Given the description of an element on the screen output the (x, y) to click on. 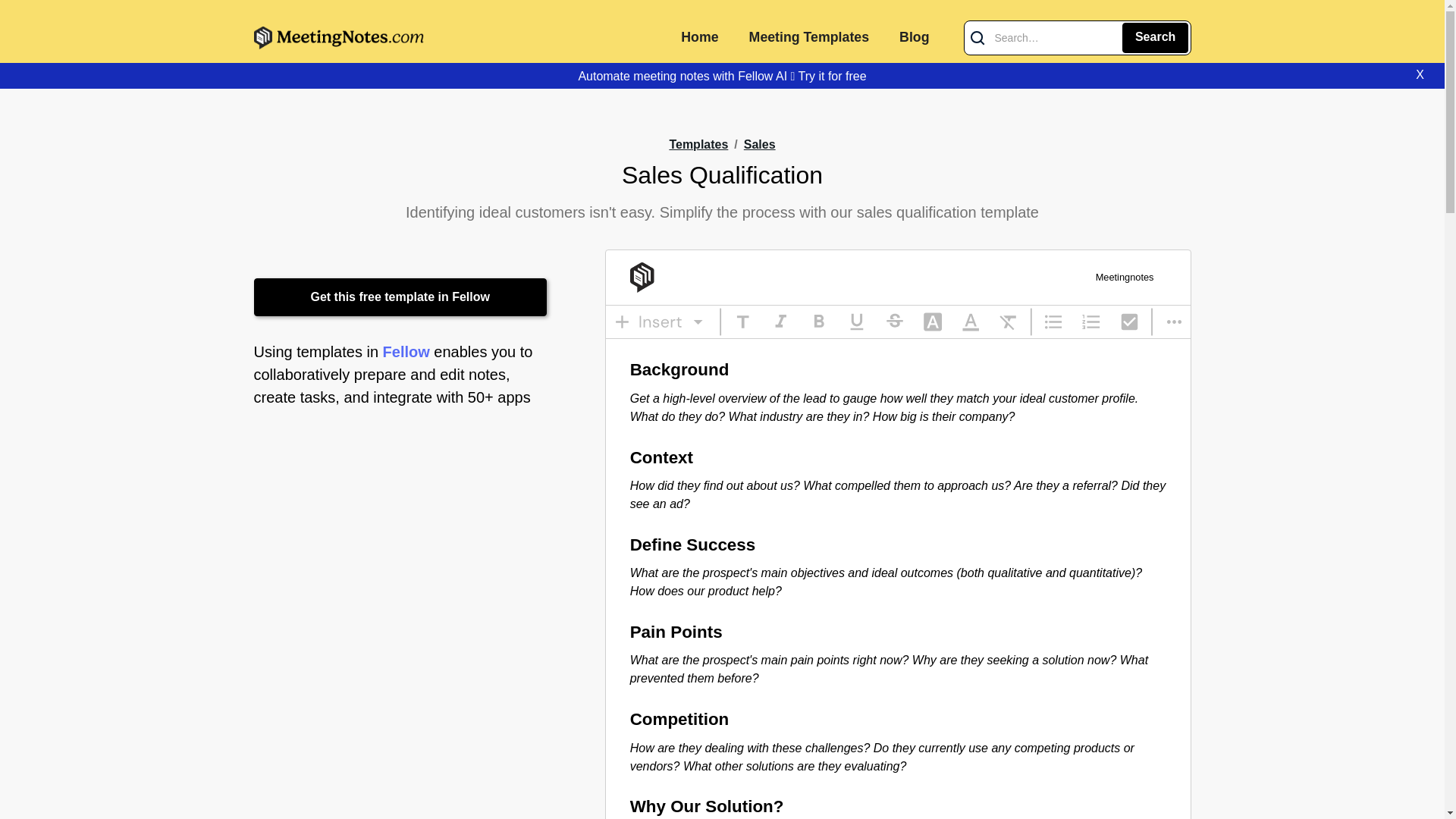
Sales (760, 144)
Search (1155, 37)
Fellow (405, 352)
Get this free template in Fellow (399, 297)
Templates (698, 144)
Home (699, 37)
Search (1155, 37)
Search (1155, 37)
Meeting Templates (808, 37)
Blog (913, 37)
